Given the description of an element on the screen output the (x, y) to click on. 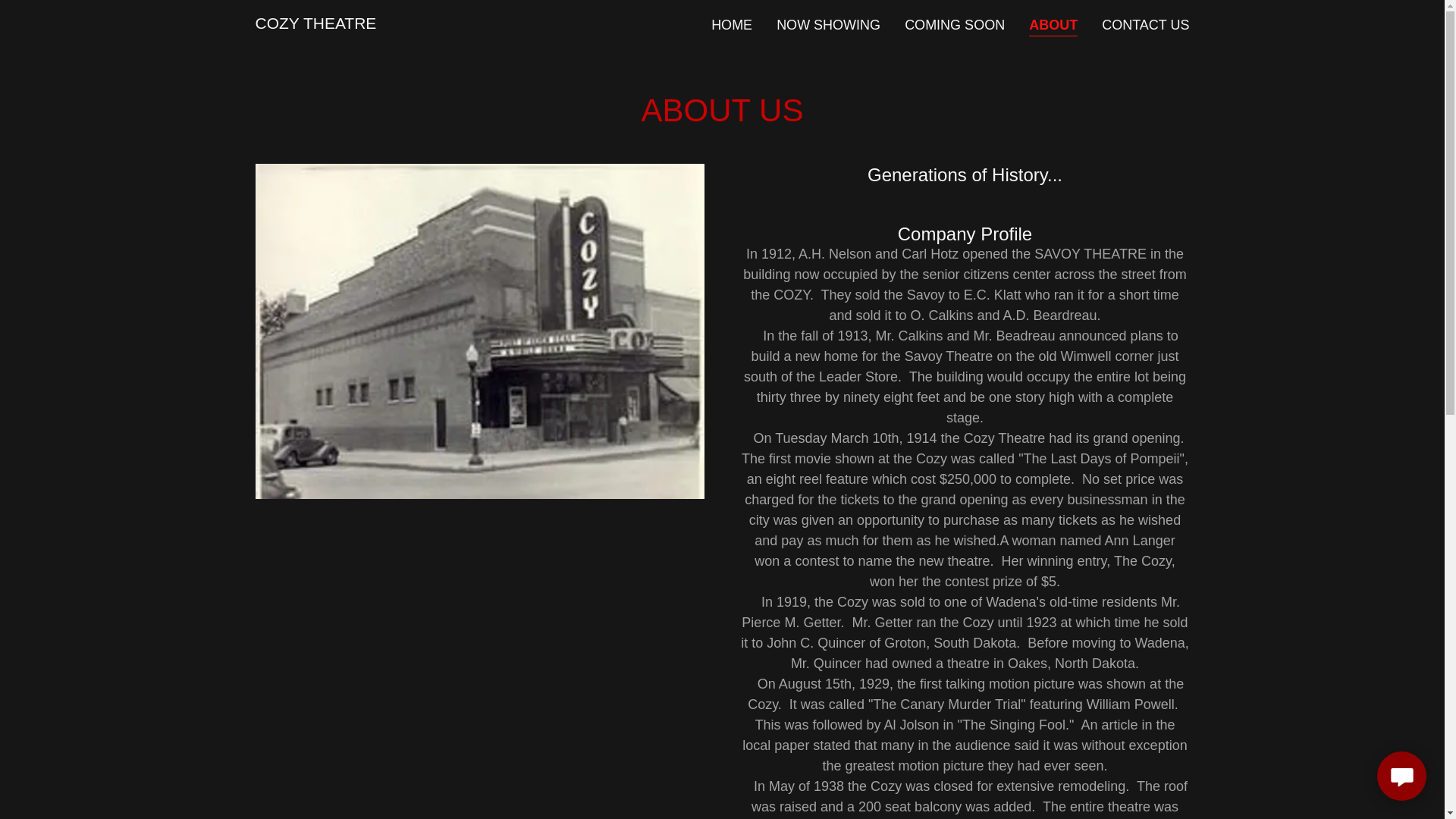
Cozy Theatre (314, 23)
NOW SHOWING (828, 24)
HOME (731, 24)
COZY THEATRE (314, 23)
ABOUT (1053, 25)
CONTACT US (1145, 24)
COMING SOON (954, 24)
